Given the description of an element on the screen output the (x, y) to click on. 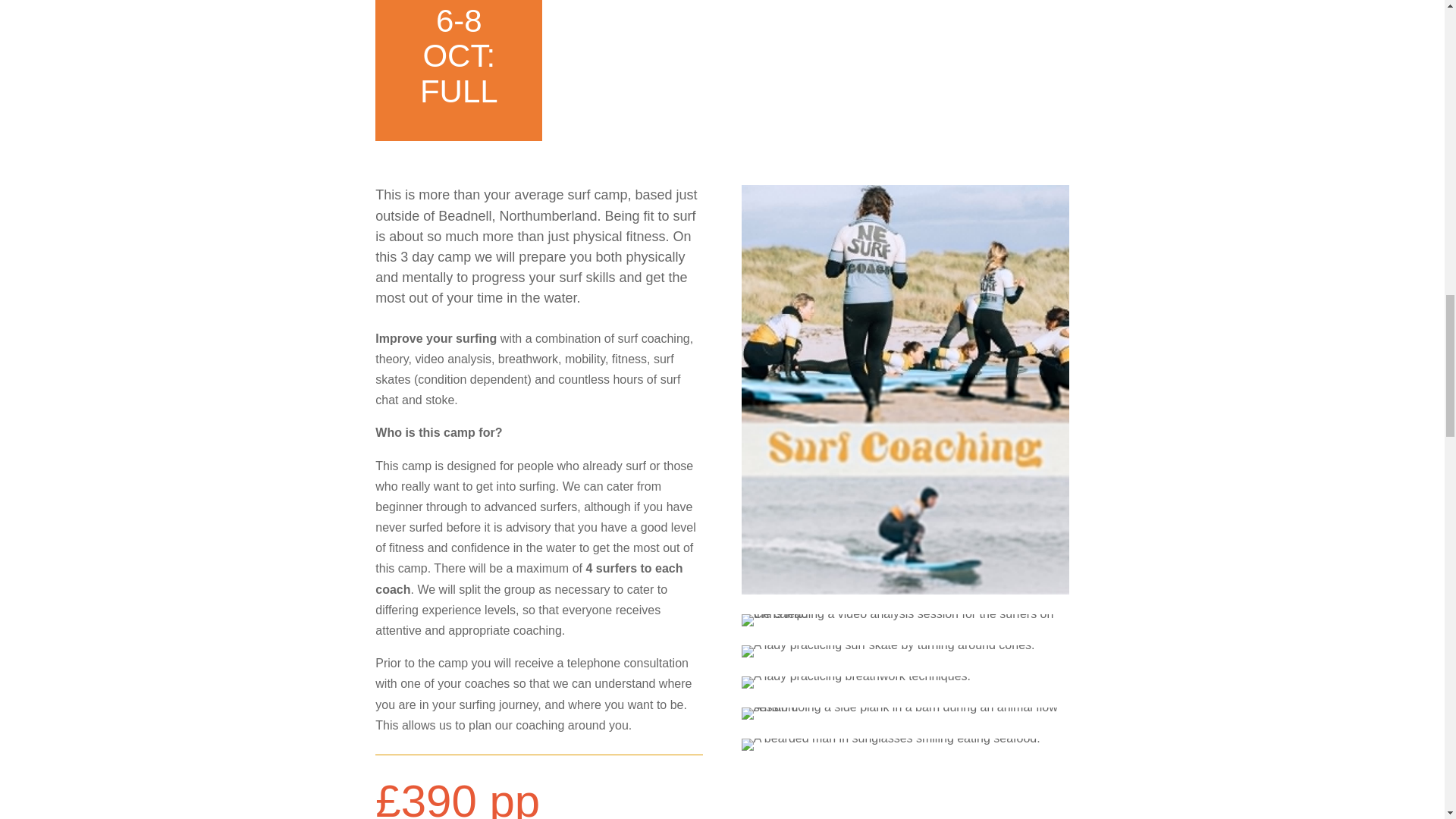
A lady practicing breathwork techniques. (856, 682)
A lady practicing surf skate by turning around cones. (888, 651)
A bearded man in sunglasses smiling eating seafood. (891, 744)
